Given the description of an element on the screen output the (x, y) to click on. 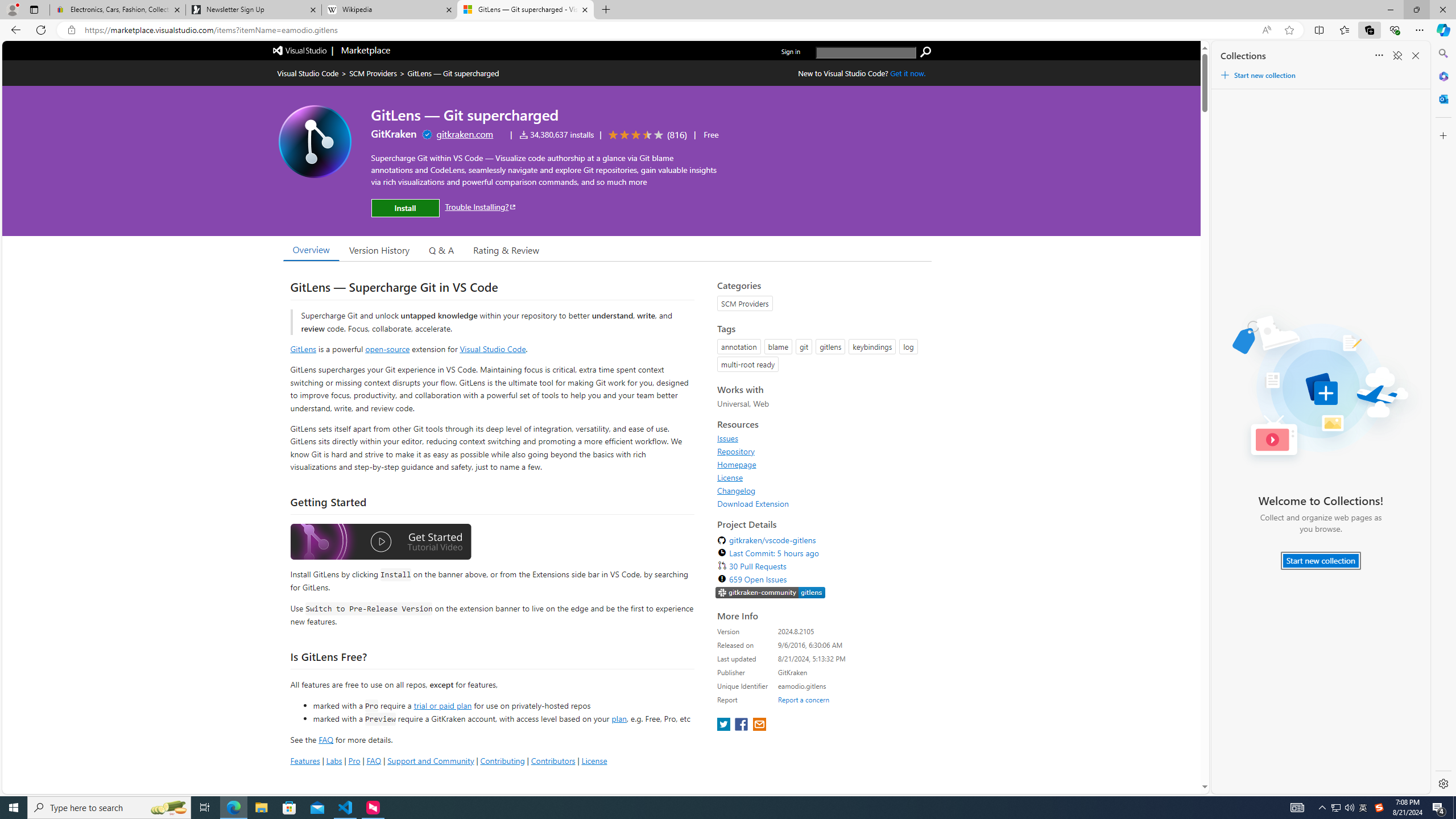
Download Extension (753, 503)
Pro (354, 760)
Rating & Review (505, 249)
GitLens (303, 348)
Visual Studio logo (300, 49)
SCM Providers (373, 72)
Visual Studio Code (492, 348)
Download Extension (820, 503)
Visual Studio logo Marketplace logo (330, 50)
